Given the description of an element on the screen output the (x, y) to click on. 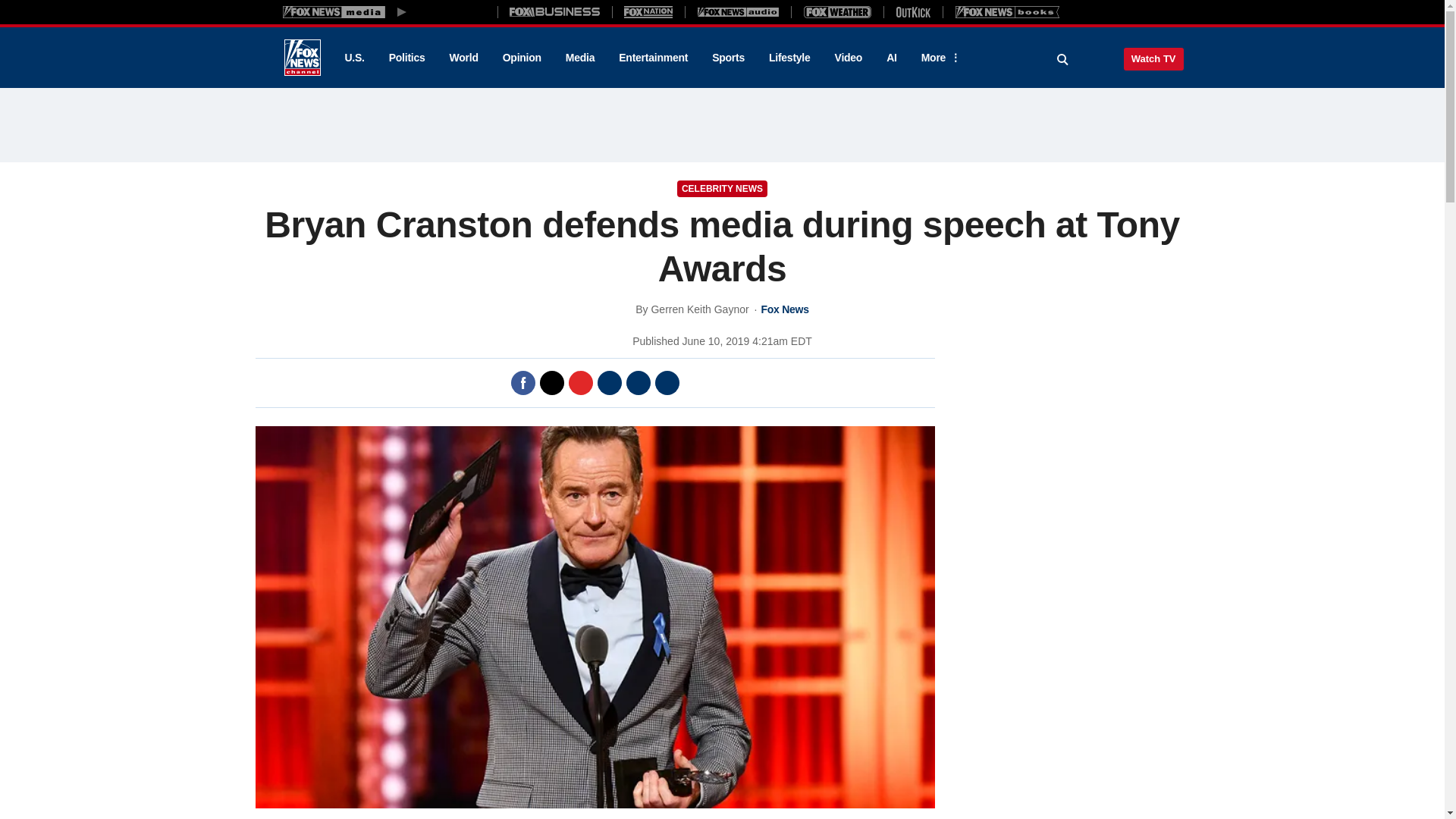
Watch TV (1153, 58)
Books (1007, 11)
Fox News (301, 57)
Fox News Media (453, 11)
U.S. (353, 57)
Video (848, 57)
AI (891, 57)
Fox News Audio (737, 11)
Outkick (912, 11)
Opinion (521, 57)
